Given the description of an element on the screen output the (x, y) to click on. 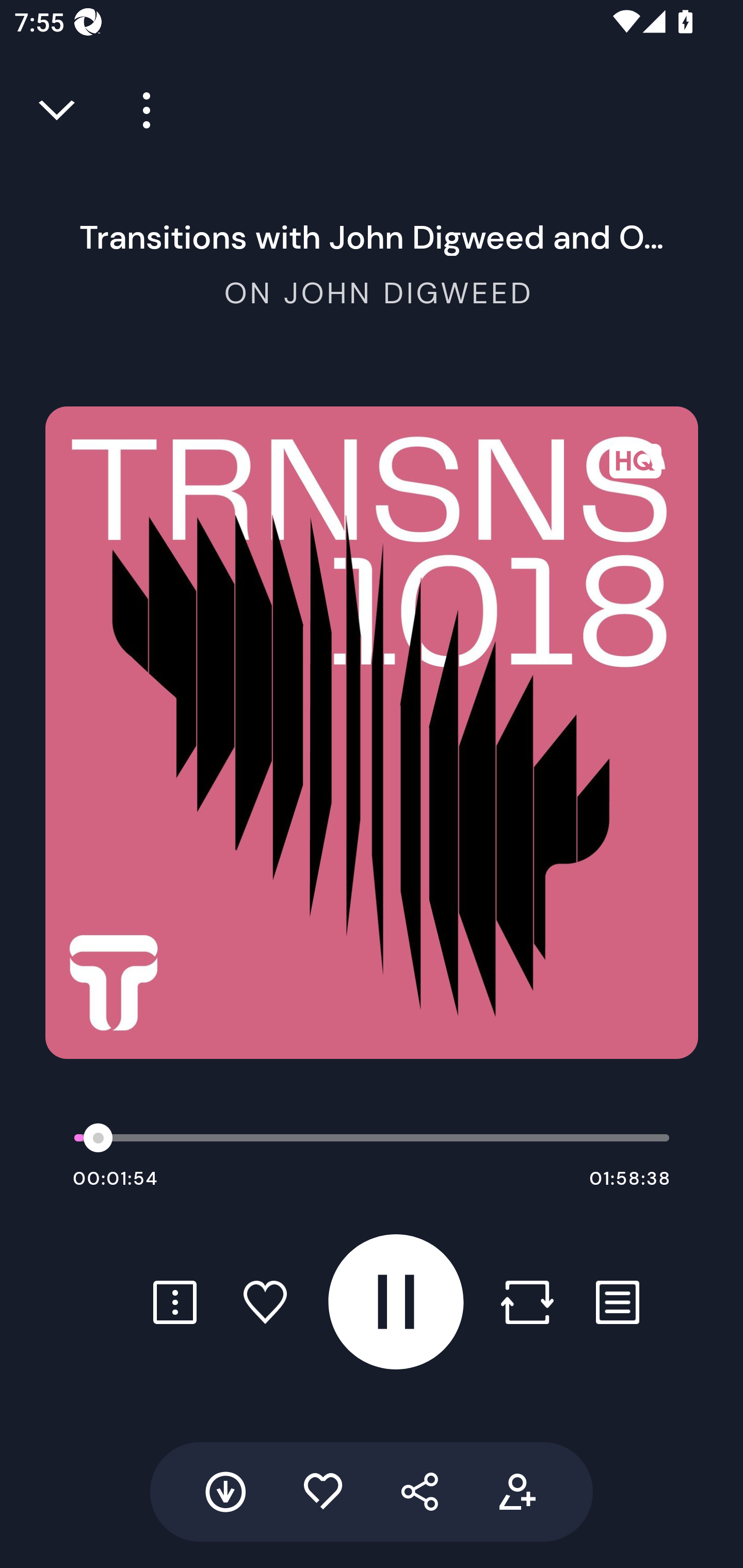
Close full player (58, 110)
Player more options button (139, 110)
Repost button (527, 1301)
